Given the description of an element on the screen output the (x, y) to click on. 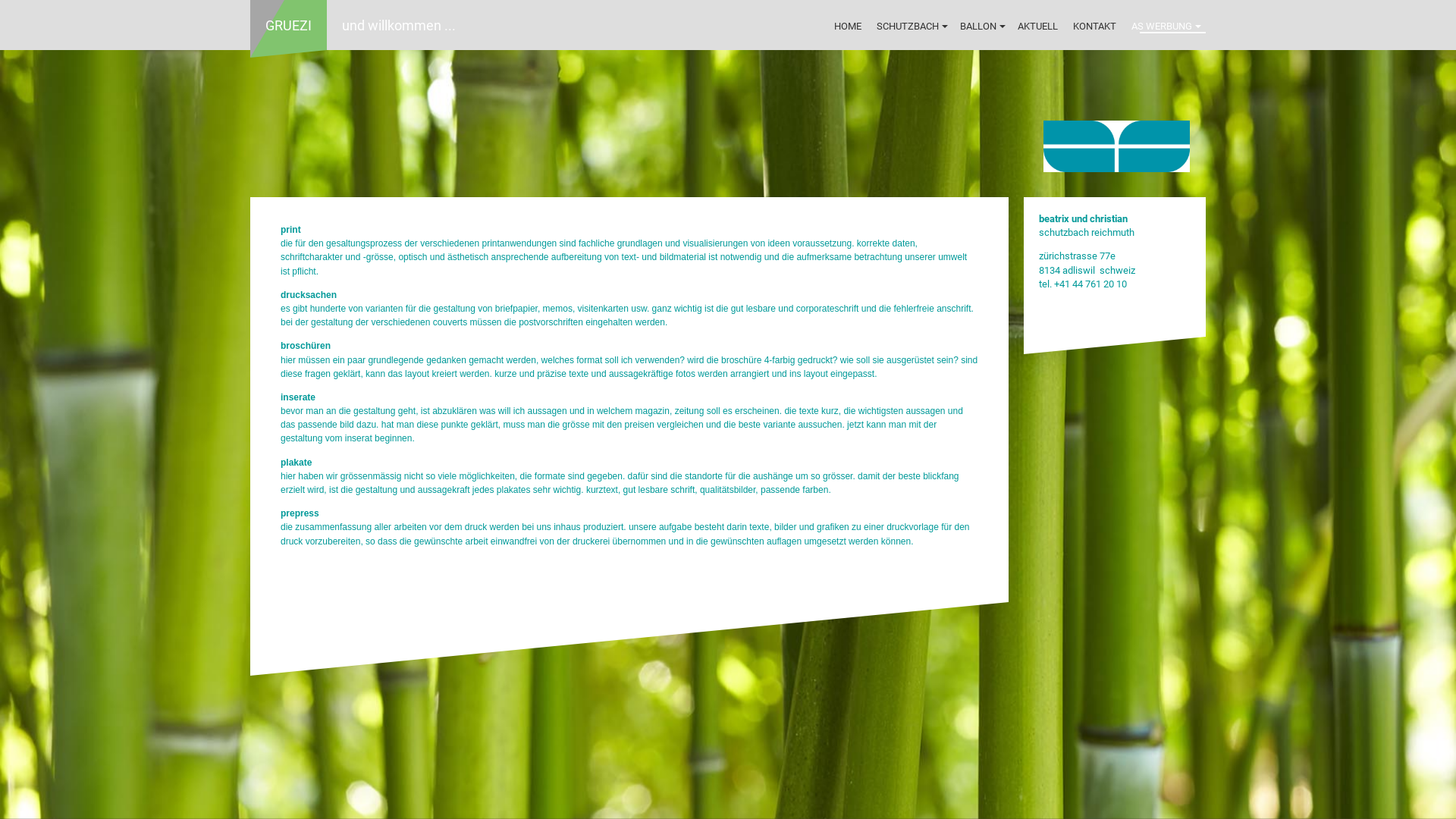
KONTAKT Element type: text (1094, 26)
HOME Element type: text (847, 26)
AS WERBUNG Element type: text (1164, 26)
AKTUELL Element type: text (1037, 26)
SCHUTZBACH Element type: text (910, 26)
BALLON Element type: text (981, 26)
  Element type: text (727, 123)
